Given the description of an element on the screen output the (x, y) to click on. 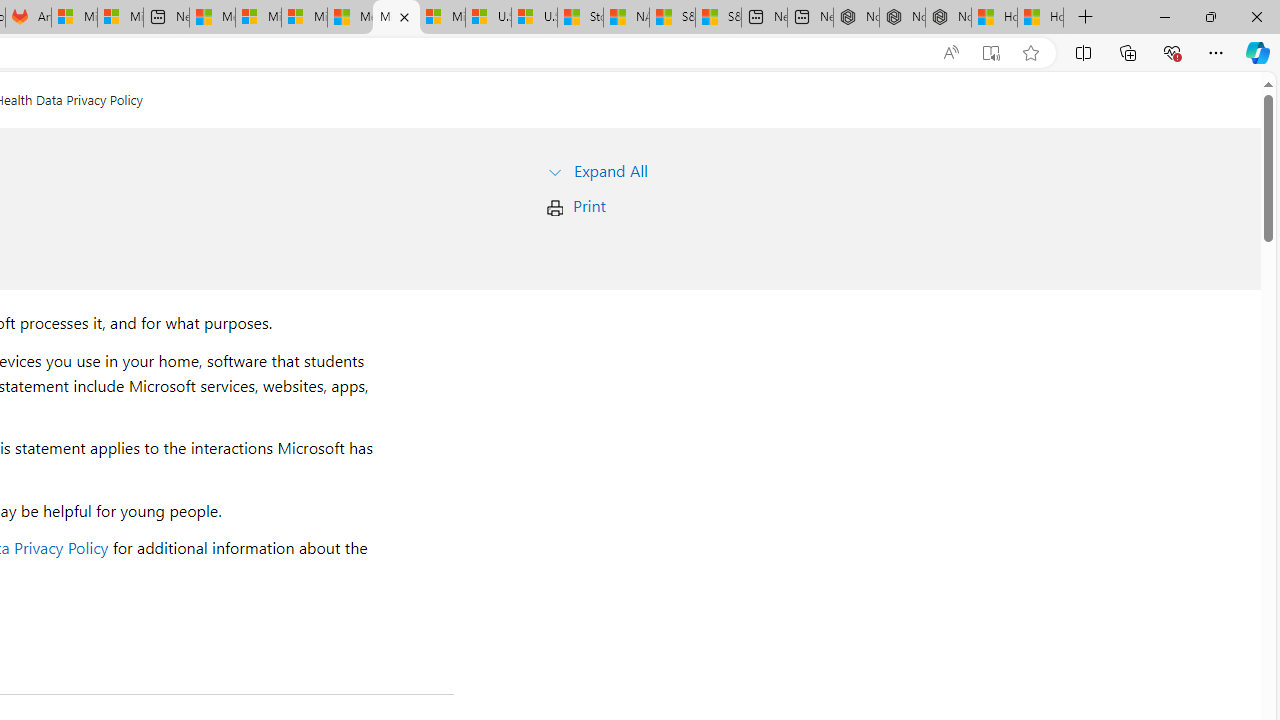
Print (589, 205)
Microsoft account | Home (303, 17)
Enter Immersive Reader (F9) (991, 53)
S&P 500, Nasdaq end lower, weighed by Nvidia dip | Watch (718, 17)
How to Use a Monitor With Your Closed Laptop (1040, 17)
Browser essentials (1171, 52)
Minimize (1164, 16)
Read aloud this page (Ctrl+Shift+U) (950, 53)
Close tab (404, 16)
